Given the description of an element on the screen output the (x, y) to click on. 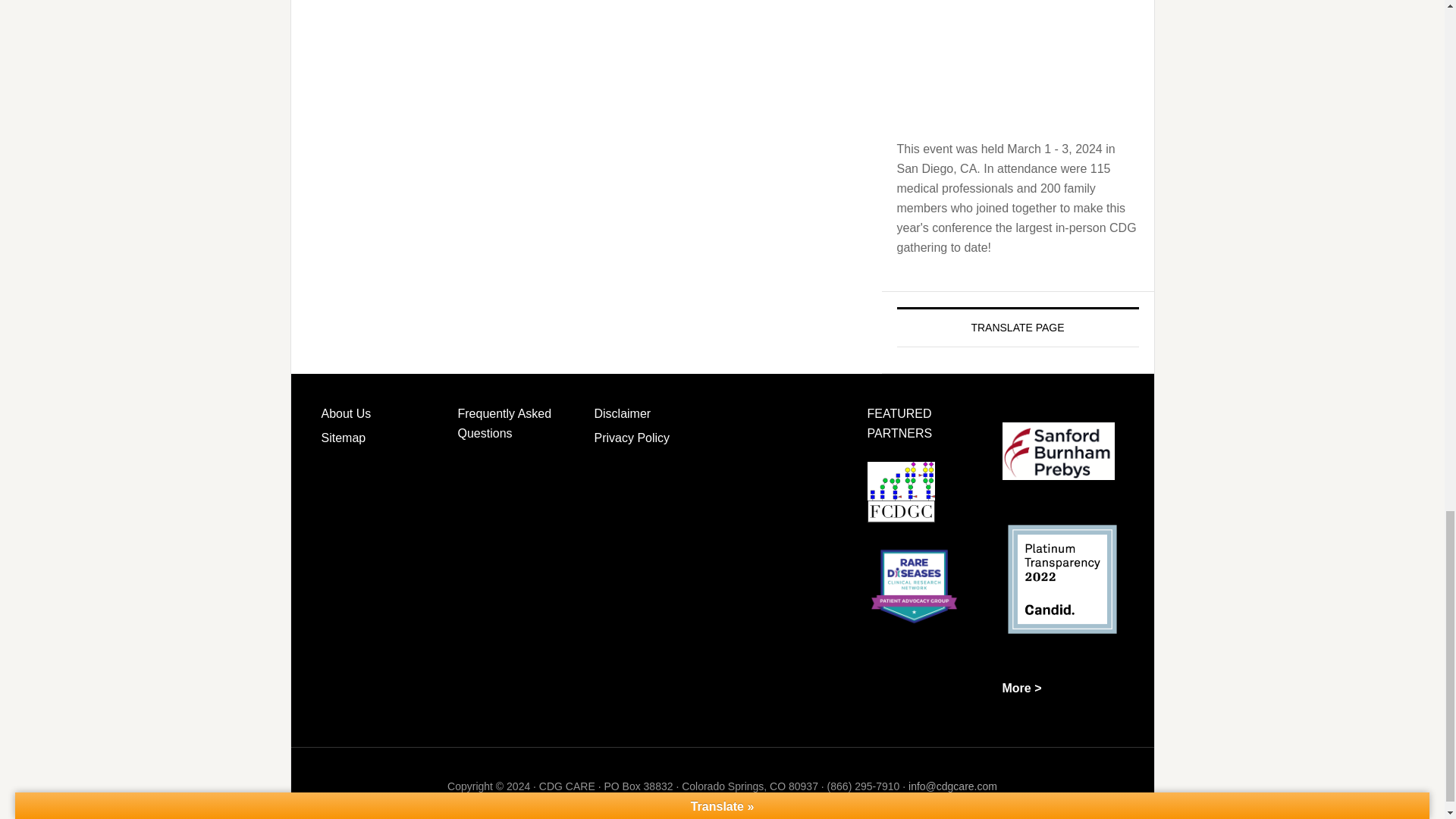
Disclaimer (622, 413)
About Us (346, 413)
More Partners (1022, 687)
Sitemap (343, 437)
Frequently Asked Questions (504, 423)
Privacy Policy (631, 437)
